Given the description of an element on the screen output the (x, y) to click on. 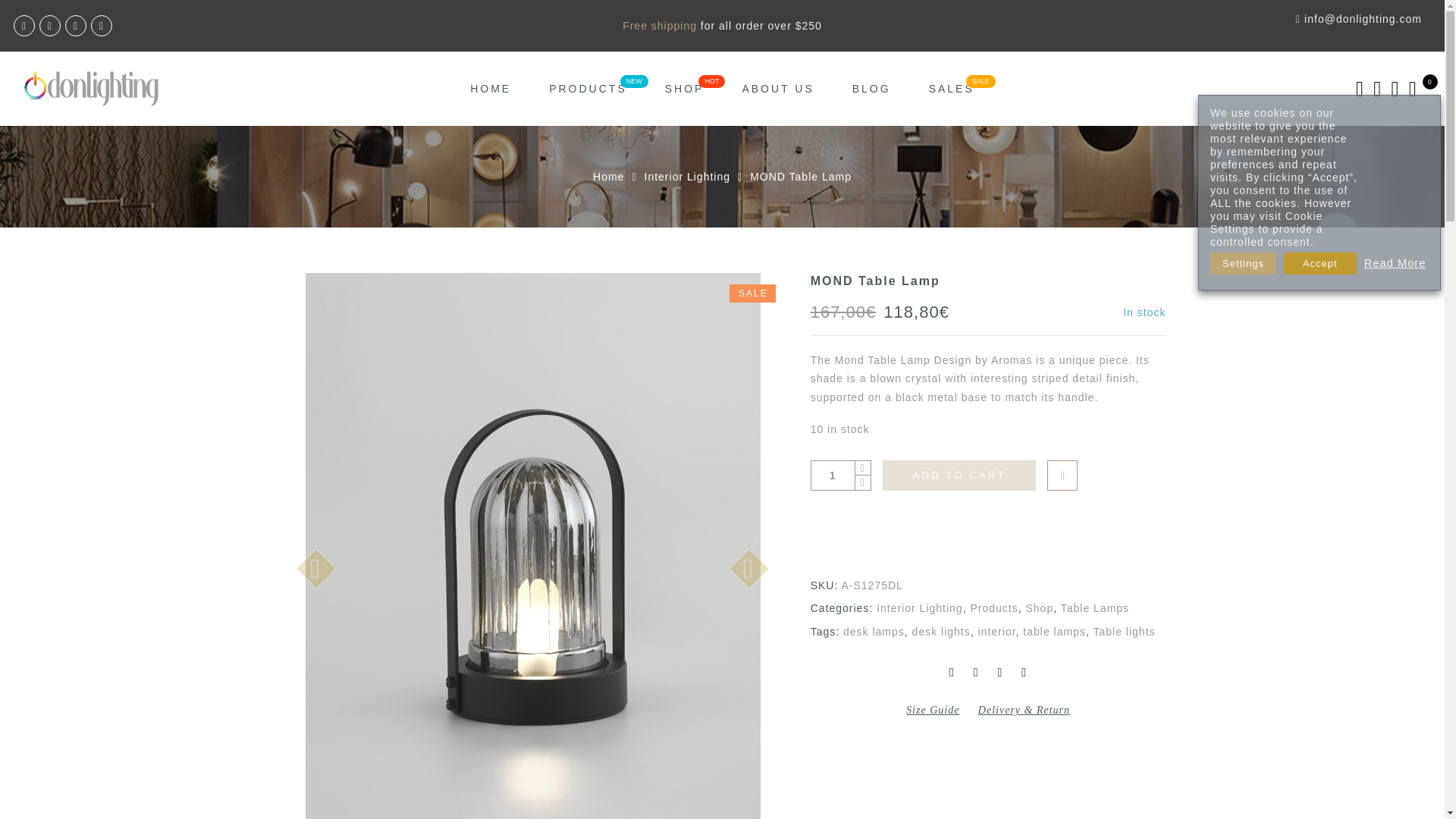
SHOP (684, 88)
1 (833, 475)
SALES (951, 88)
PRODUCTS (587, 88)
ABOUT US (777, 88)
HOME (490, 88)
BLOG (871, 88)
